Given the description of an element on the screen output the (x, y) to click on. 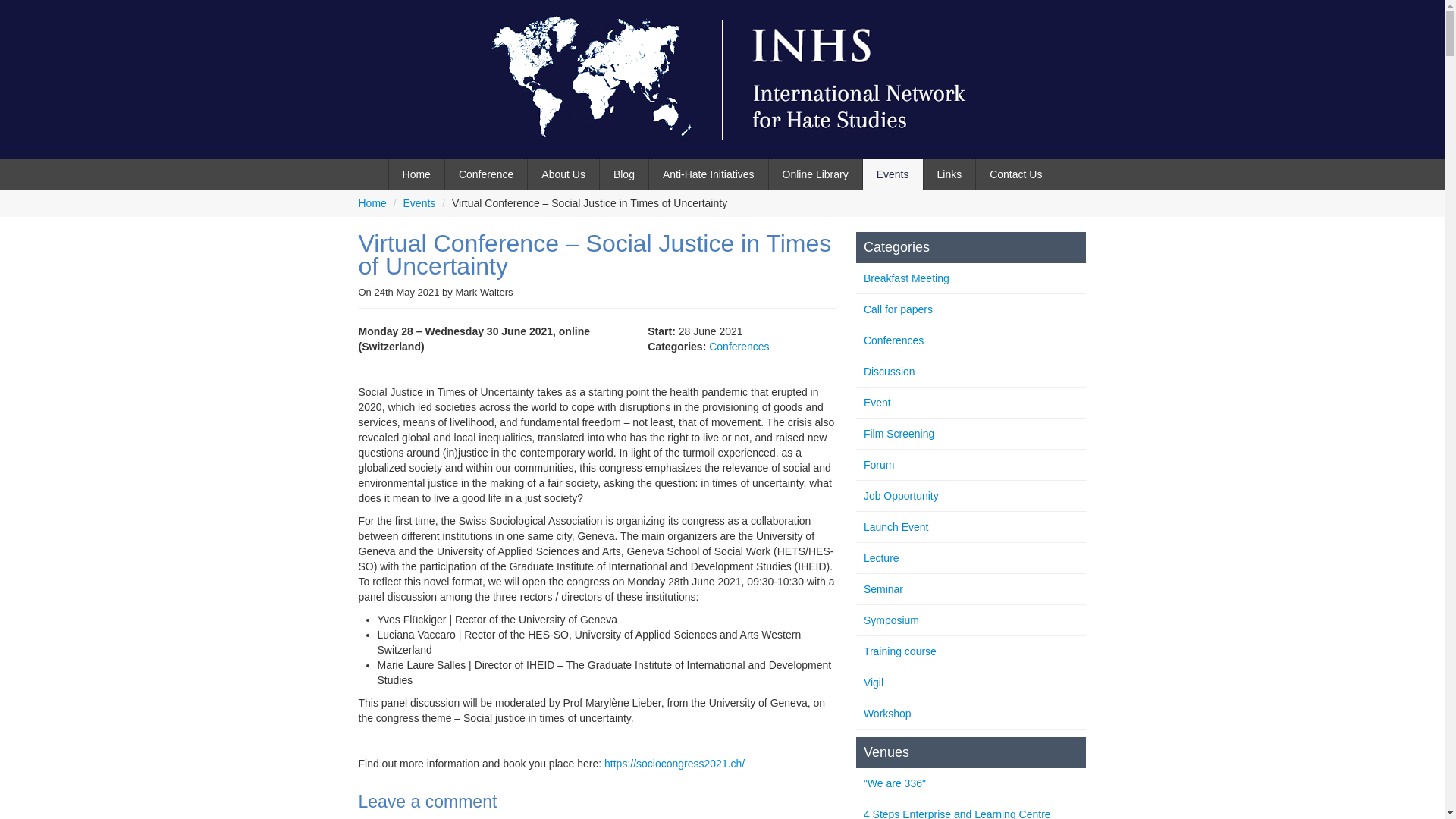
Breakfast Meeting (906, 277)
Conferences (738, 346)
View all posts by Mark Walters (483, 292)
Forum (878, 464)
Anti-Hate Initiatives (708, 173)
Discussion (889, 371)
Call for papers (898, 309)
Conference (486, 173)
Conferences (893, 340)
Links (949, 173)
